Given the description of an element on the screen output the (x, y) to click on. 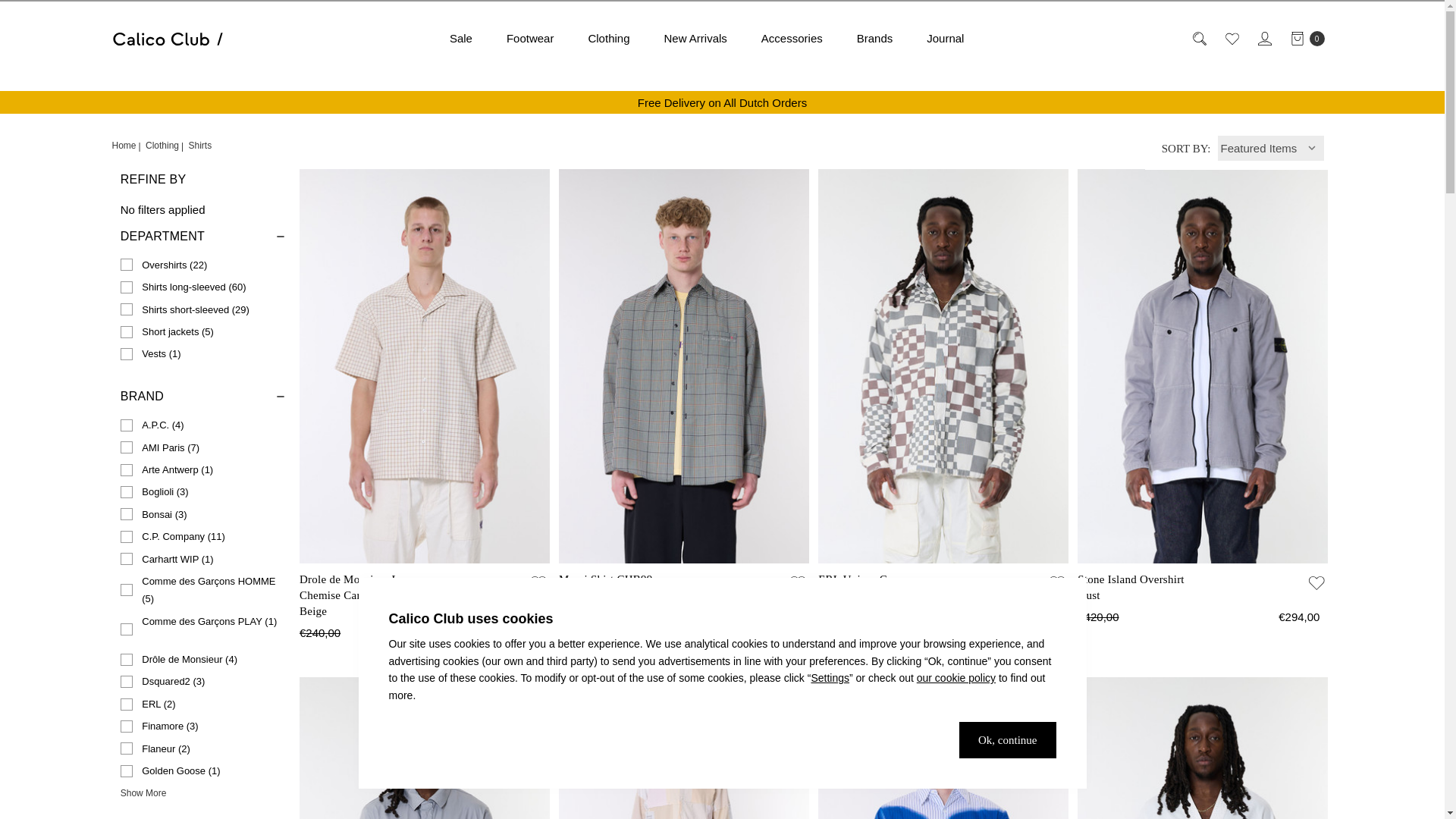
Clothing (608, 37)
Accessories (792, 37)
0 (1306, 37)
Kidsuper Stripe Blurry Face Shirt  White (943, 748)
Sale (460, 37)
Footwear (529, 37)
Tenue. White Denim Throw Over White Denim (1202, 748)
Calico Club (168, 38)
C.P. Company Metropolis Pockets Shirt Drizzle (424, 748)
Kidsuper Patchwork Shirt  Natural (684, 748)
New Arrivals (695, 37)
Journal (945, 37)
Brands (875, 37)
